Given the description of an element on the screen output the (x, y) to click on. 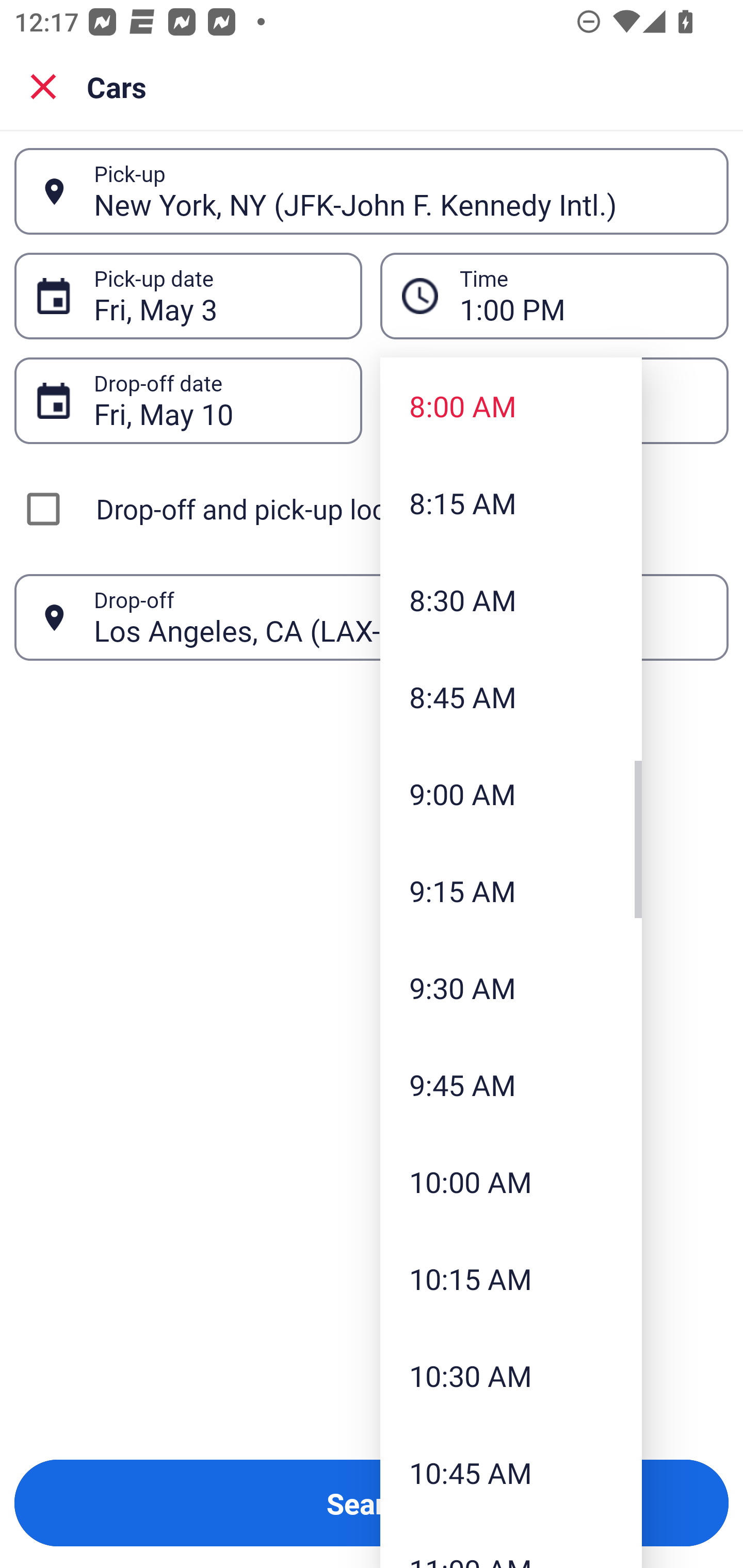
8:00 AM (510, 405)
8:15 AM (510, 502)
8:30 AM (510, 599)
8:45 AM (510, 695)
9:00 AM (510, 793)
9:15 AM (510, 890)
9:30 AM (510, 987)
9:45 AM (510, 1084)
10:00 AM (510, 1181)
10:15 AM (510, 1278)
10:30 AM (510, 1374)
10:45 AM (510, 1471)
